Given the description of an element on the screen output the (x, y) to click on. 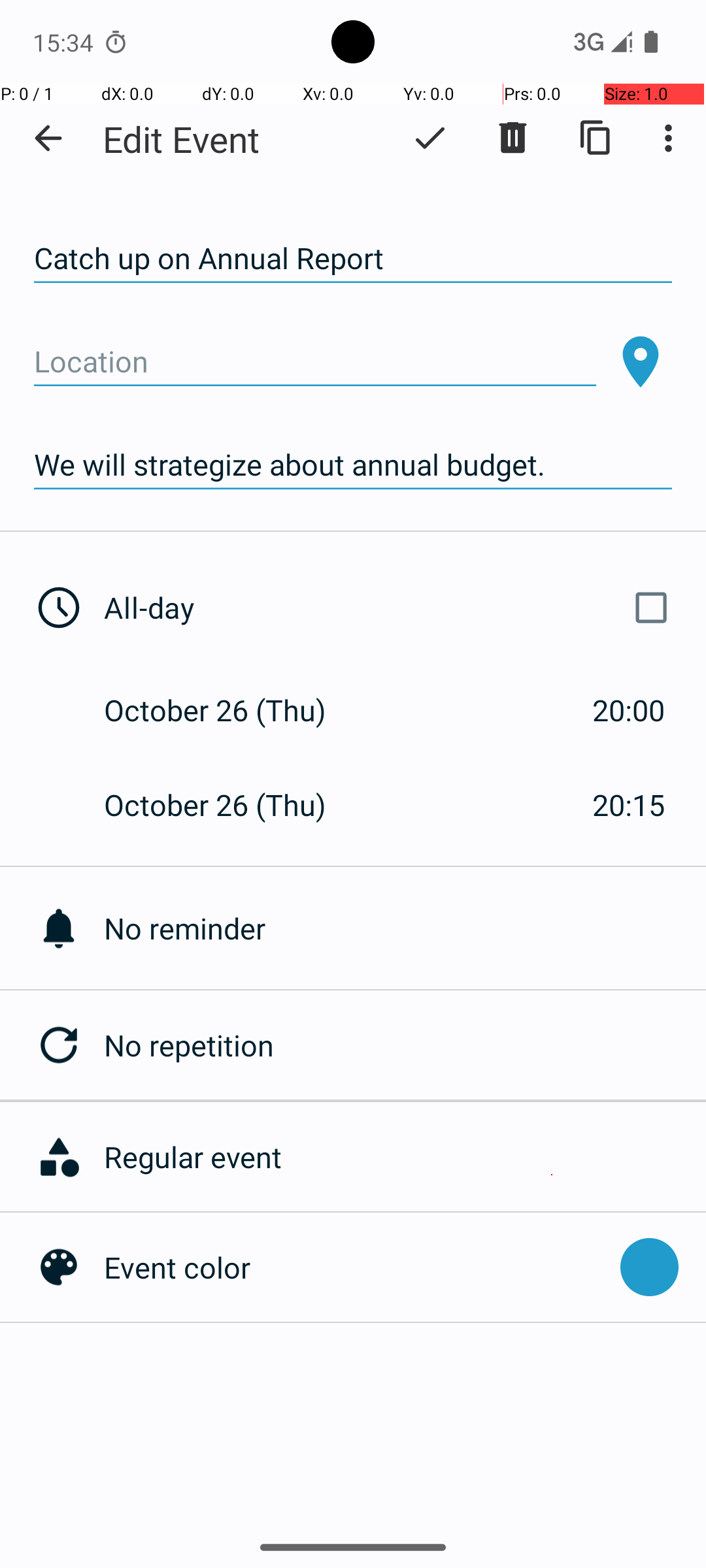
We will strategize about annual budget. Element type: android.widget.EditText (352, 465)
October 26 (Thu) Element type: android.widget.TextView (228, 709)
20:15 Element type: android.widget.TextView (628, 804)
